Given the description of an element on the screen output the (x, y) to click on. 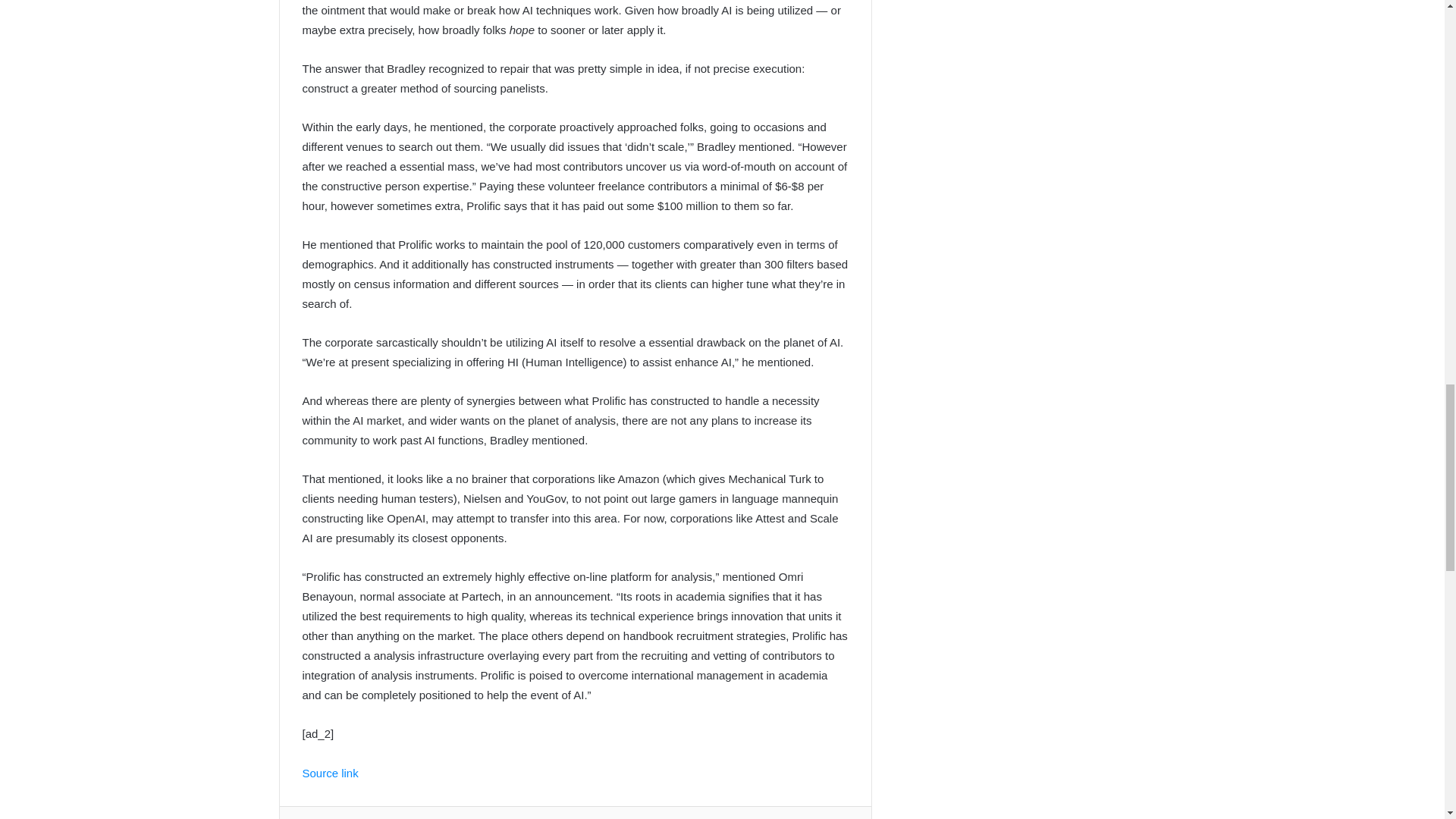
Source link (329, 772)
